Given the description of an element on the screen output the (x, y) to click on. 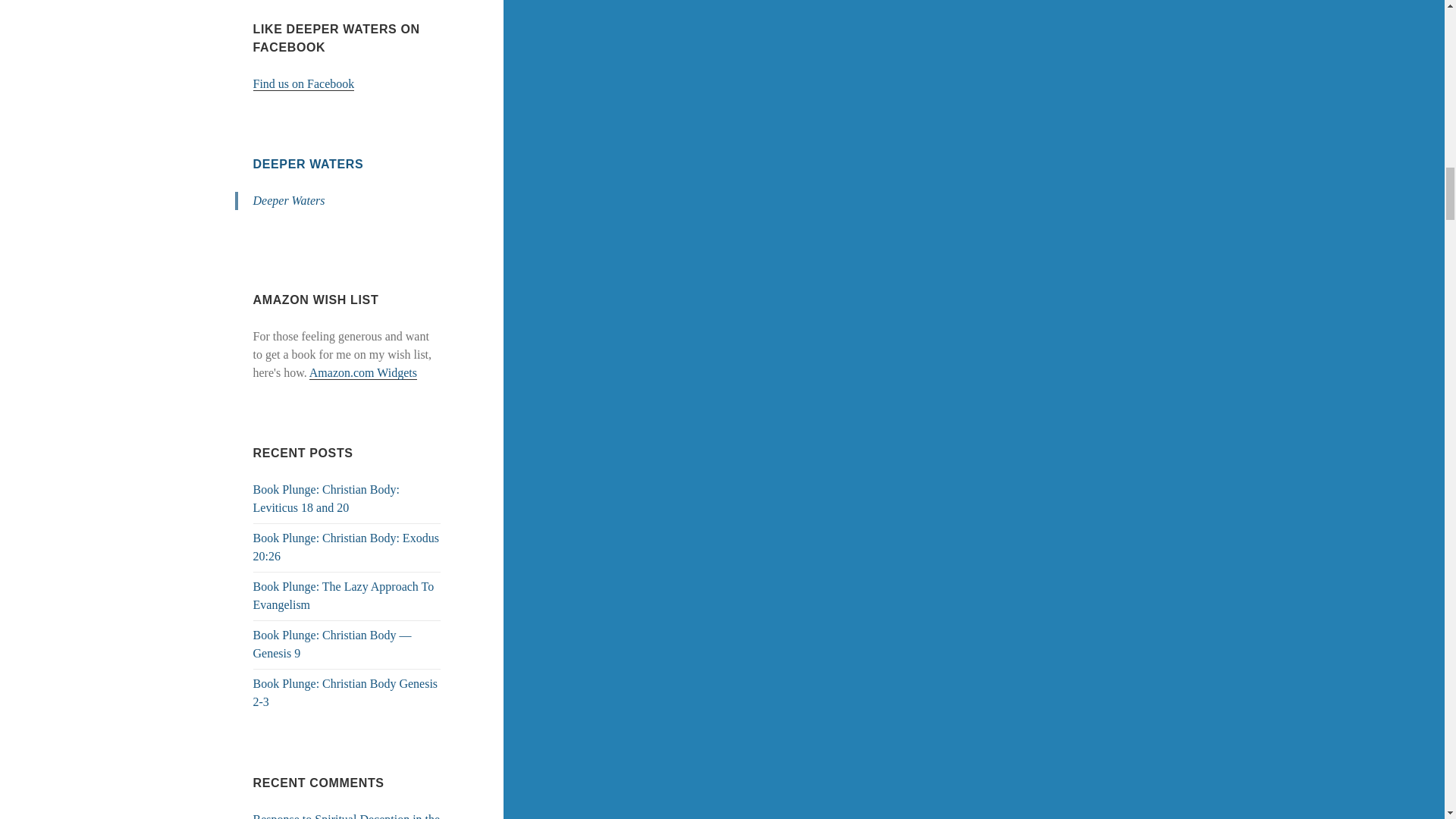
Book Plunge: The Lazy Approach To Evangelism (343, 594)
Find us on Facebook (304, 83)
Deeper Waters (288, 200)
Book Plunge: Christian Body: Exodus 20:26 (346, 546)
Amazon.com Widgets (362, 373)
DEEPER WATERS (308, 164)
Book Plunge: Christian Body: Leviticus 18 and 20 (325, 498)
Book Plunge: Christian Body Genesis 2-3 (345, 692)
